Given the description of an element on the screen output the (x, y) to click on. 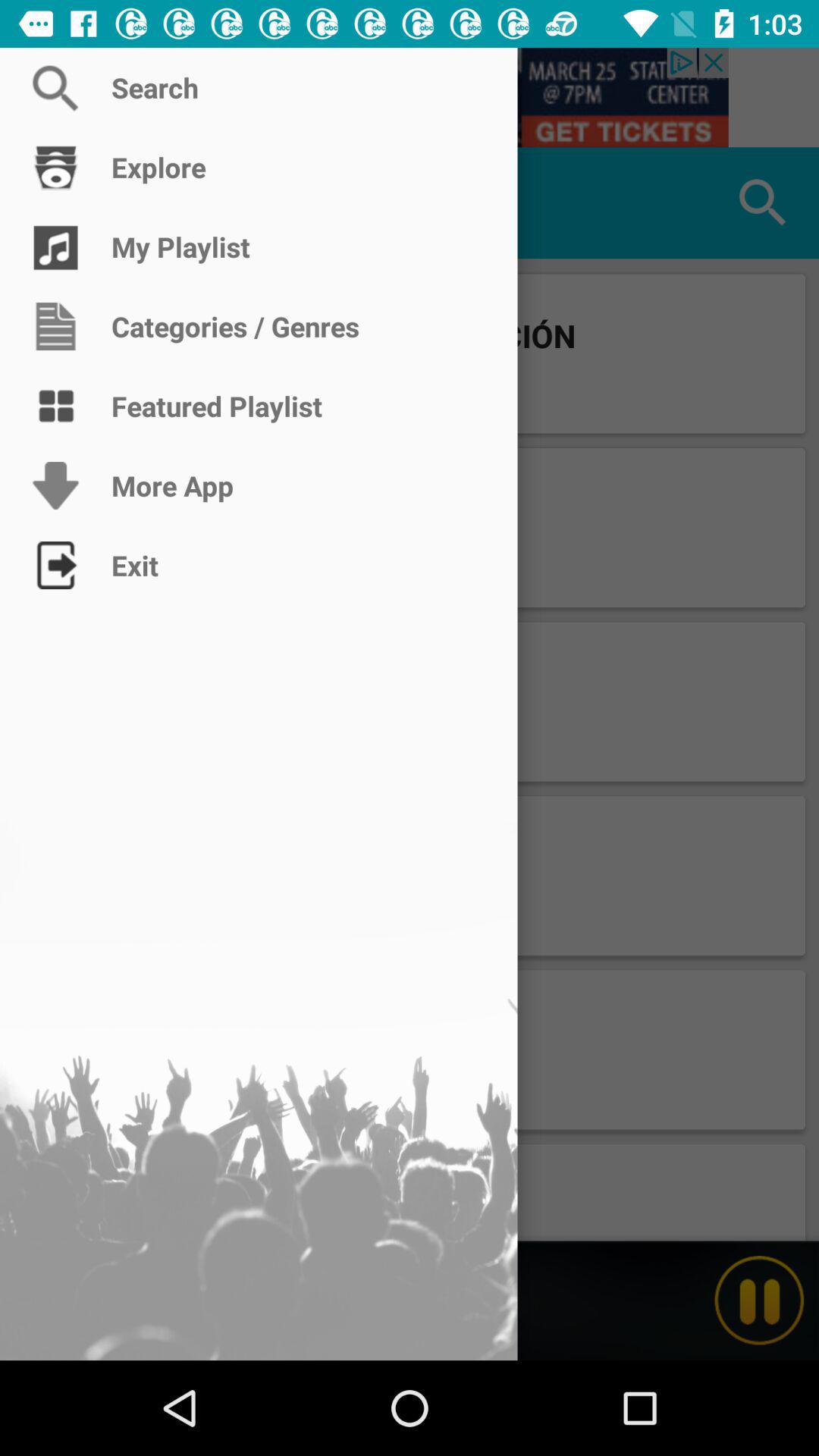
search (409, 97)
